Given the description of an element on the screen output the (x, y) to click on. 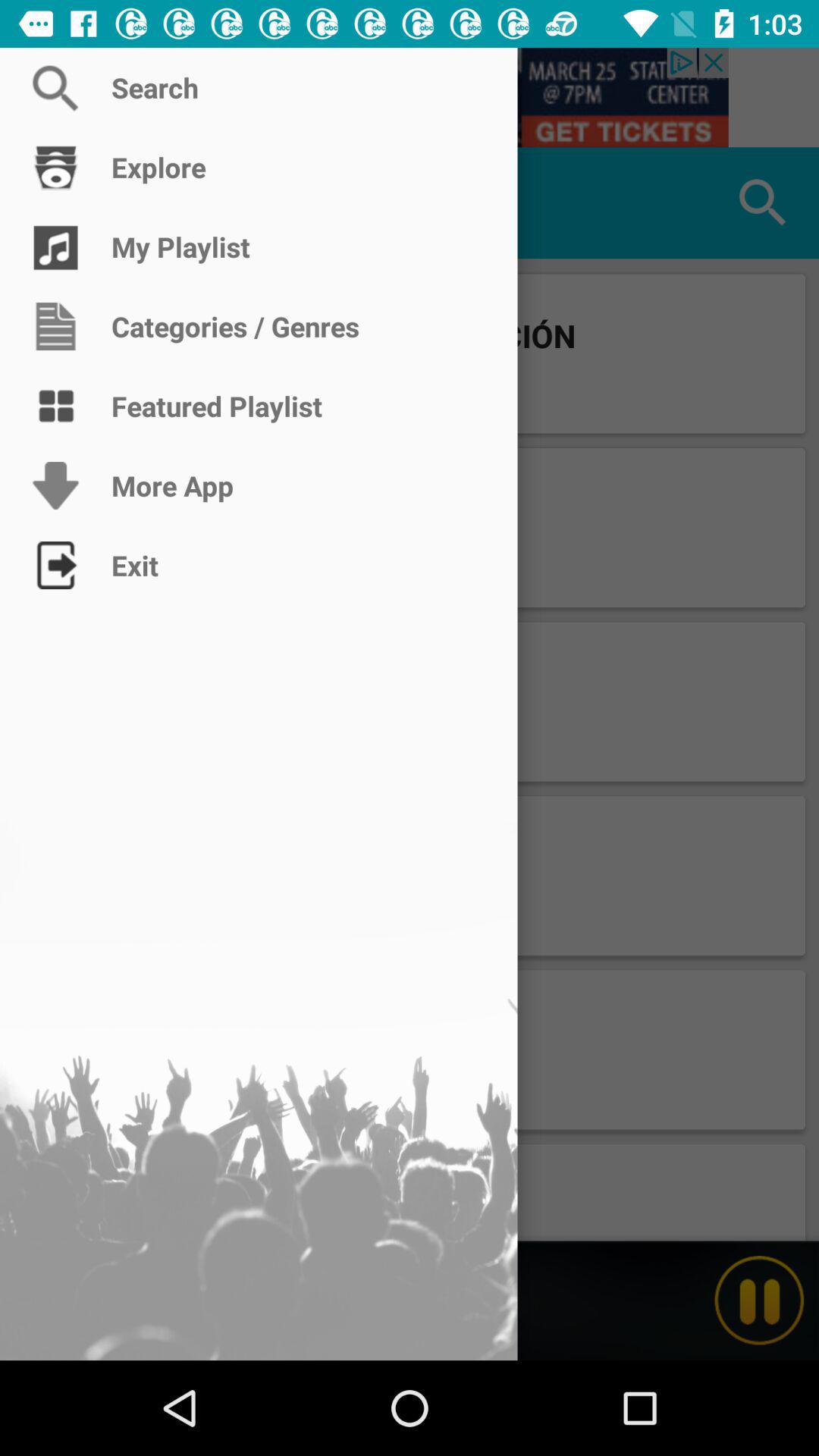
search (409, 97)
